Given the description of an element on the screen output the (x, y) to click on. 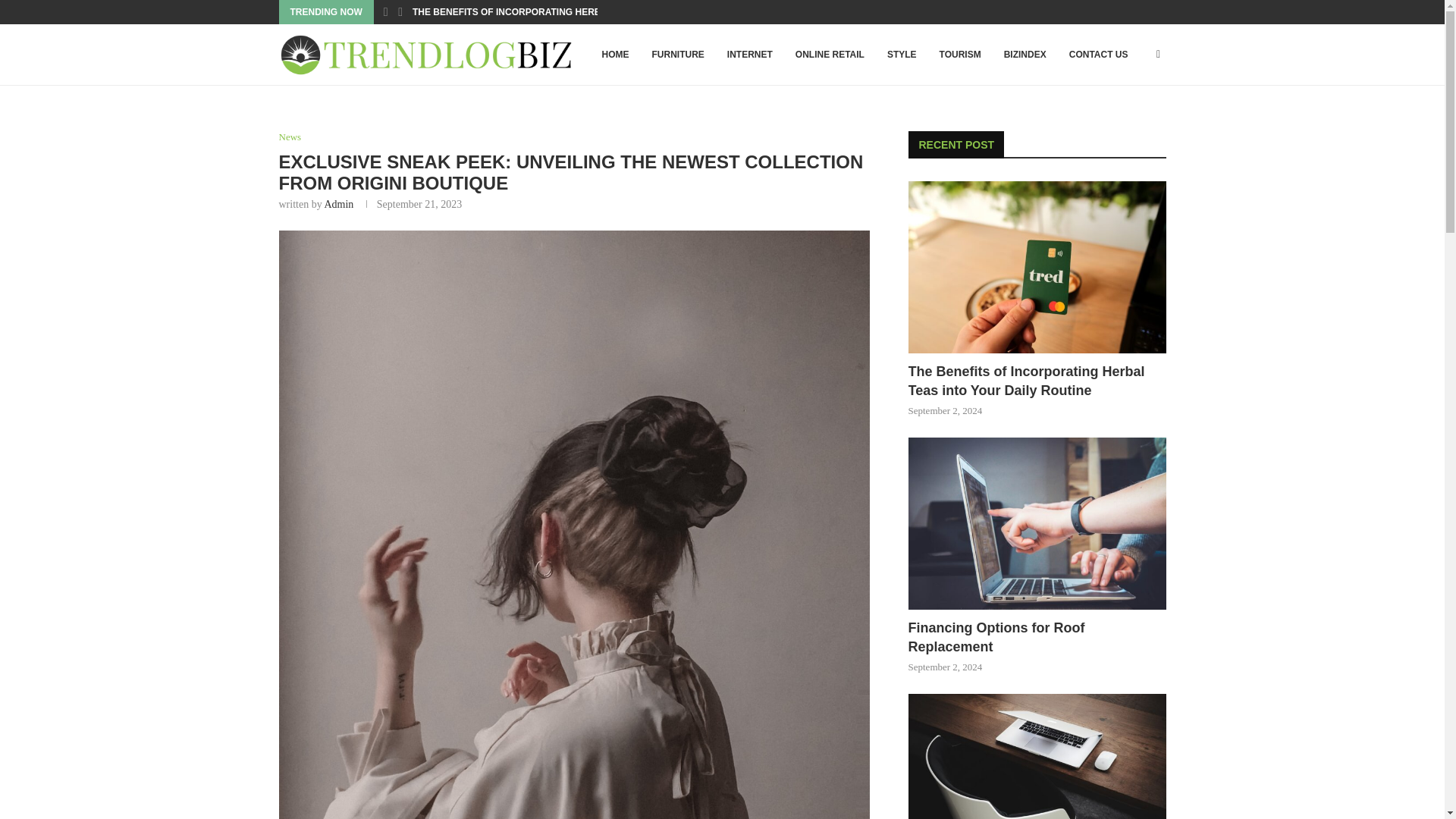
INTERNET (750, 54)
News (290, 137)
Admin (338, 204)
TOURISM (960, 54)
FURNITURE (677, 54)
CONTACT US (1099, 54)
THE BENEFITS OF INCORPORATING HERBAL TEAS INTO YOUR... (556, 12)
BIZINDEX (1025, 54)
